Given the description of an element on the screen output the (x, y) to click on. 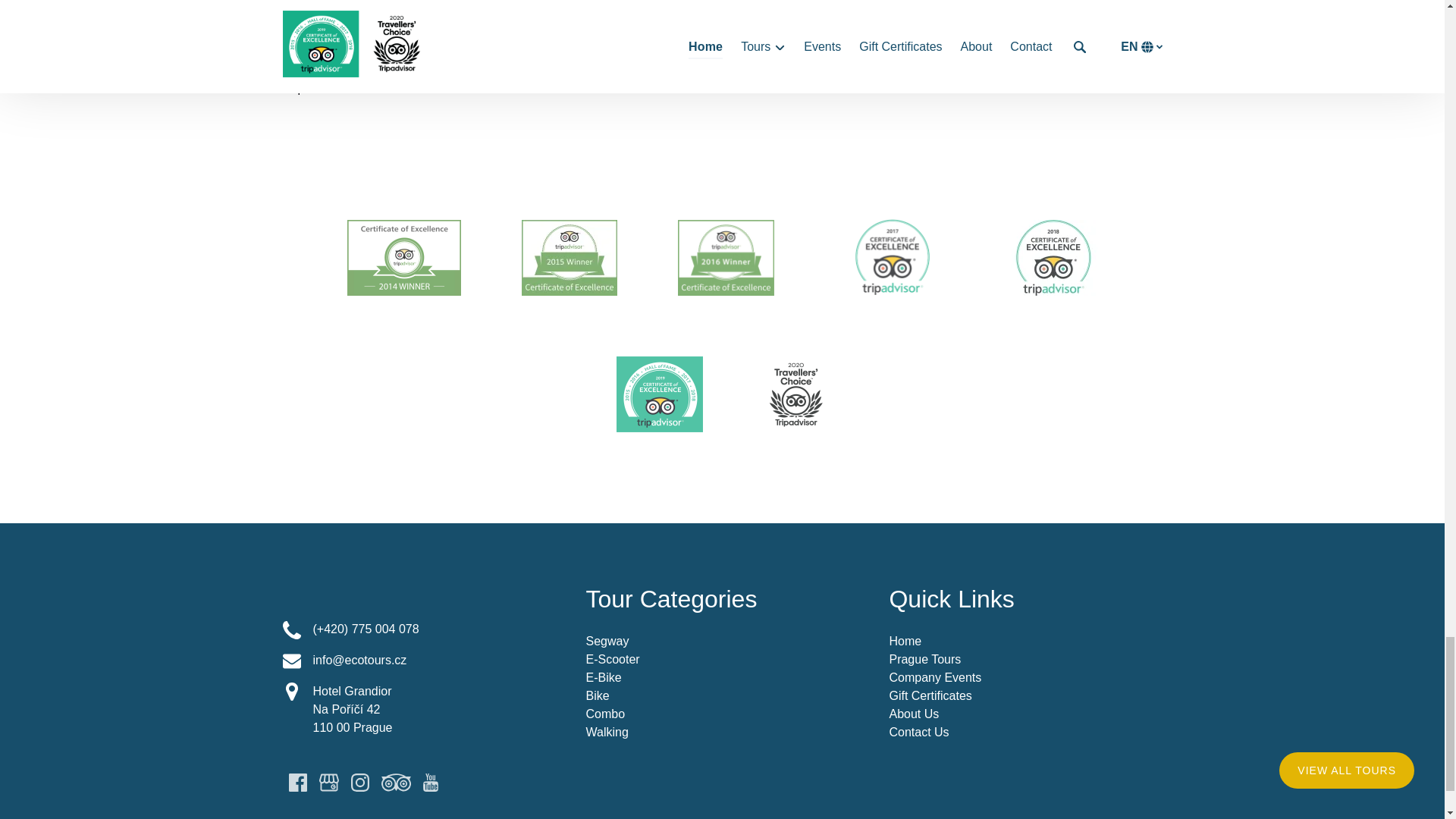
Envelope (290, 660)
Map Marker (290, 691)
Phone (290, 629)
Visit our Facebook (296, 782)
